Given the description of an element on the screen output the (x, y) to click on. 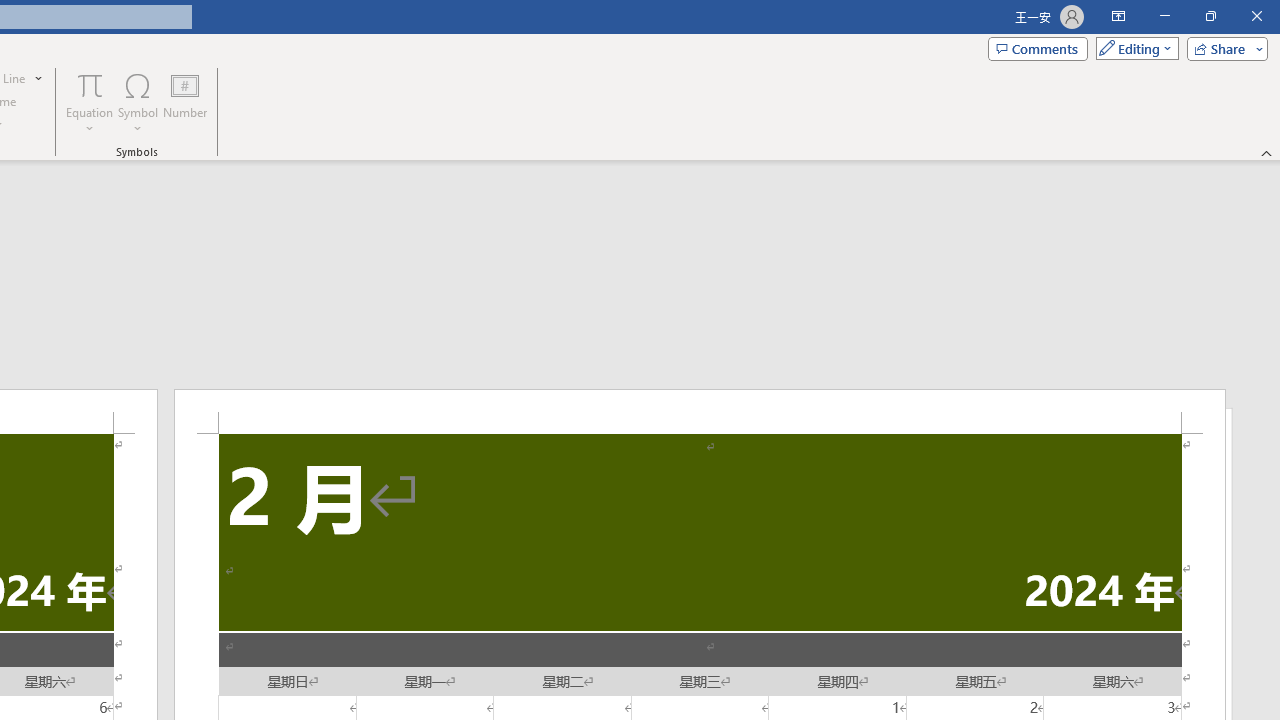
Equation (90, 84)
Number... (185, 102)
Header -Section 2- (700, 411)
Symbol (138, 102)
Equation (90, 102)
